Given the description of an element on the screen output the (x, y) to click on. 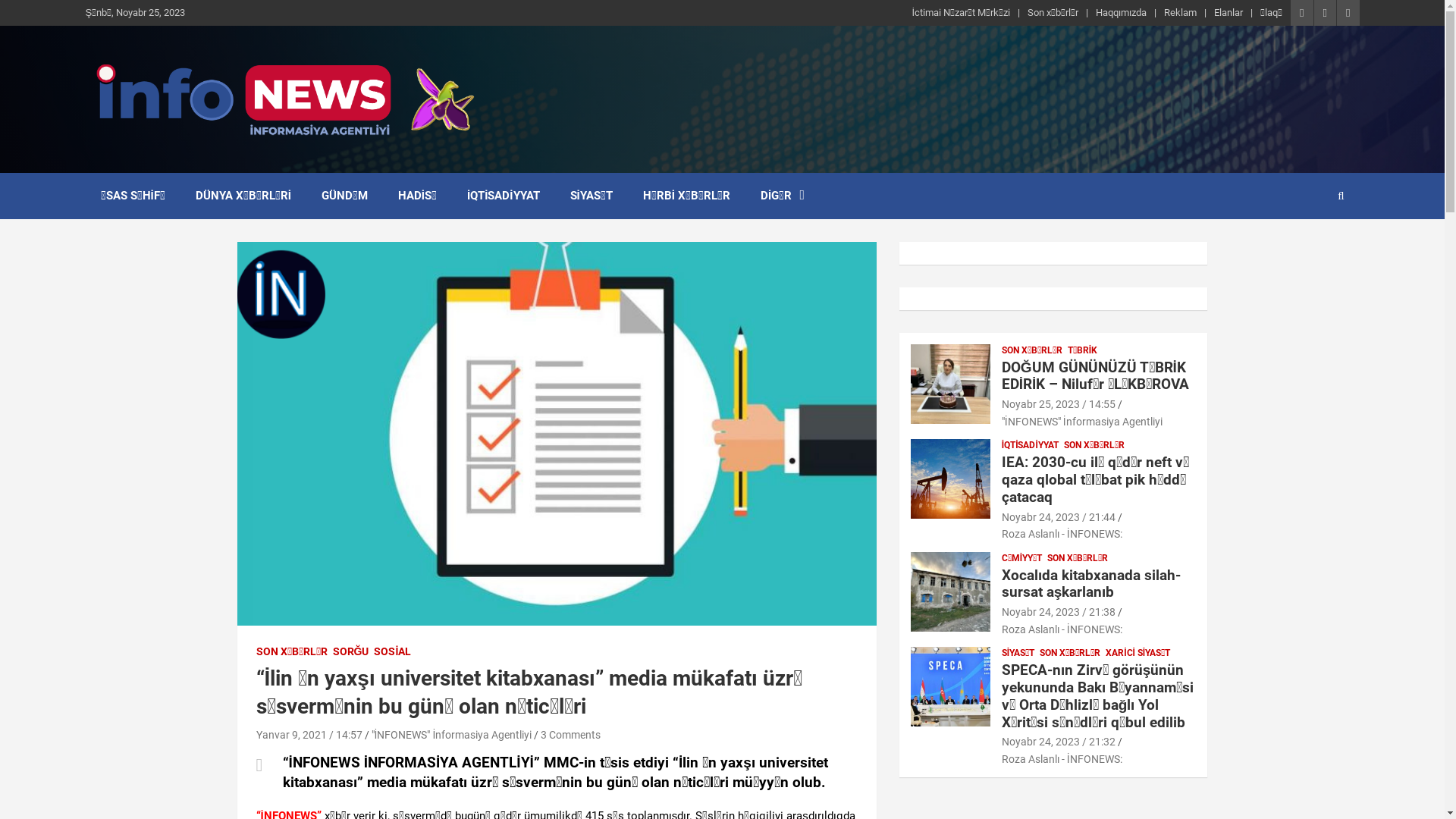
SOSIAL Element type: text (392, 651)
Noyabr 24, 2023 / 21:32 Element type: text (1058, 741)
Noyabr 24, 2023 / 21:38 Element type: text (1058, 611)
3 Comments Element type: text (570, 734)
Yanvar 9, 2021 / 14:57 Element type: text (309, 734)
Reklam Element type: text (1180, 12)
Elanlar Element type: text (1228, 12)
Noyabr 25, 2023 / 14:55 Element type: text (1058, 404)
Noyabr 24, 2023 / 21:44 Element type: text (1058, 517)
